Given the description of an element on the screen output the (x, y) to click on. 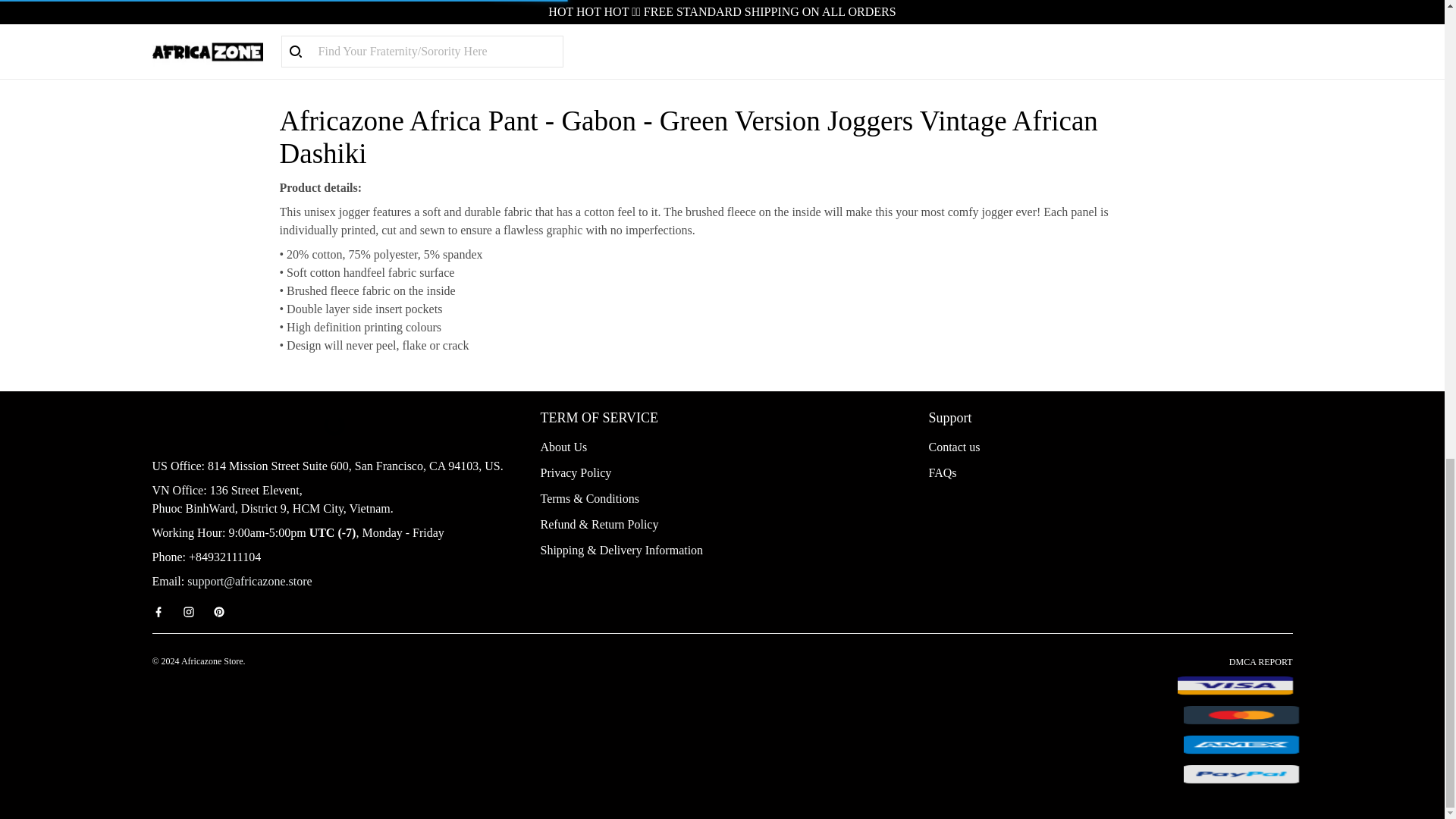
DMCA REPORT (1260, 661)
Privacy Policy (575, 472)
FAQs (942, 472)
instagram (192, 612)
Contact us (953, 446)
facebook (162, 612)
pinterest (222, 612)
About Us (563, 446)
